Given the description of an element on the screen output the (x, y) to click on. 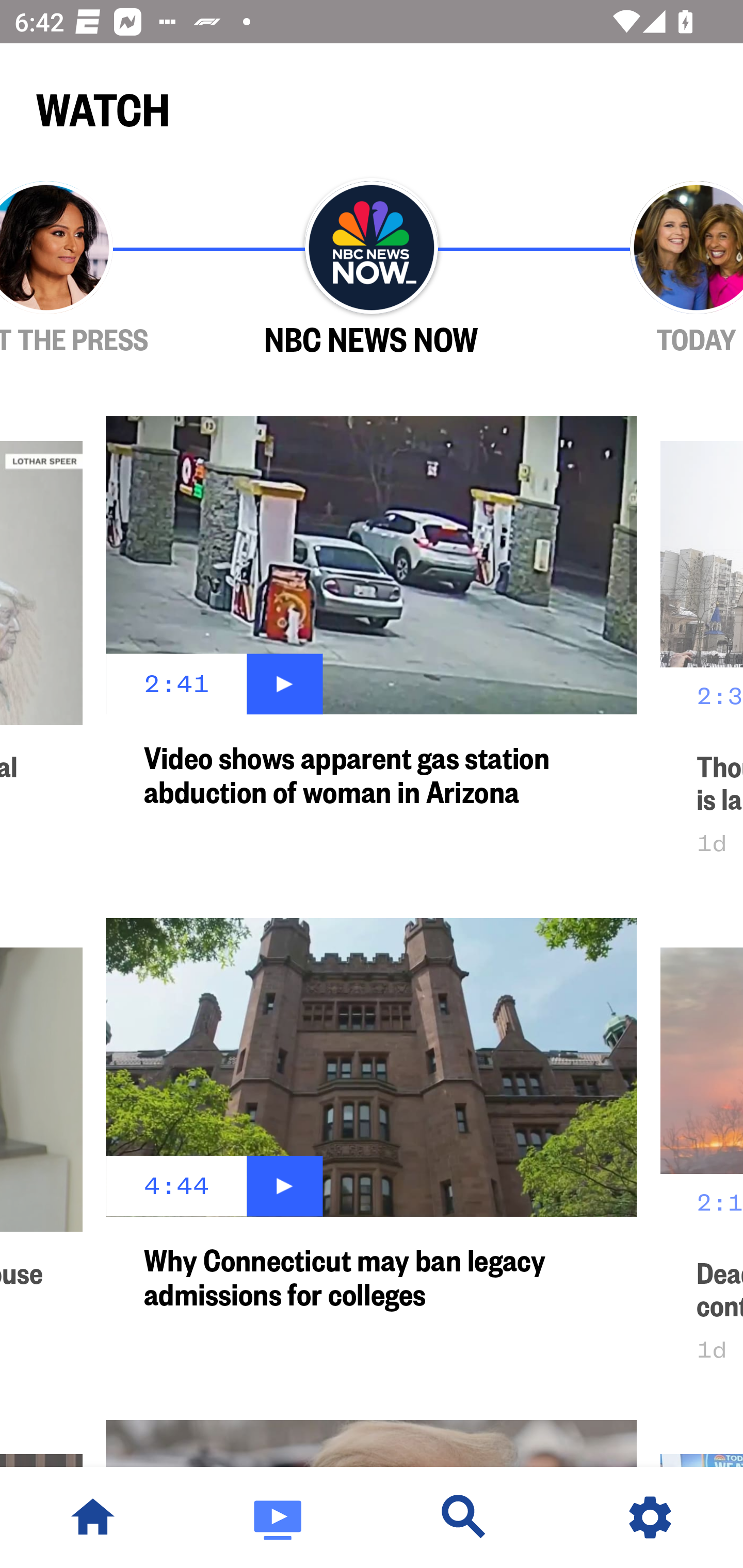
MEET THE PRESS (104, 268)
NBC NEWS NOW (371, 268)
TODAY (638, 268)
NBC News Home (92, 1517)
Discover (464, 1517)
Settings (650, 1517)
